Given the description of an element on the screen output the (x, y) to click on. 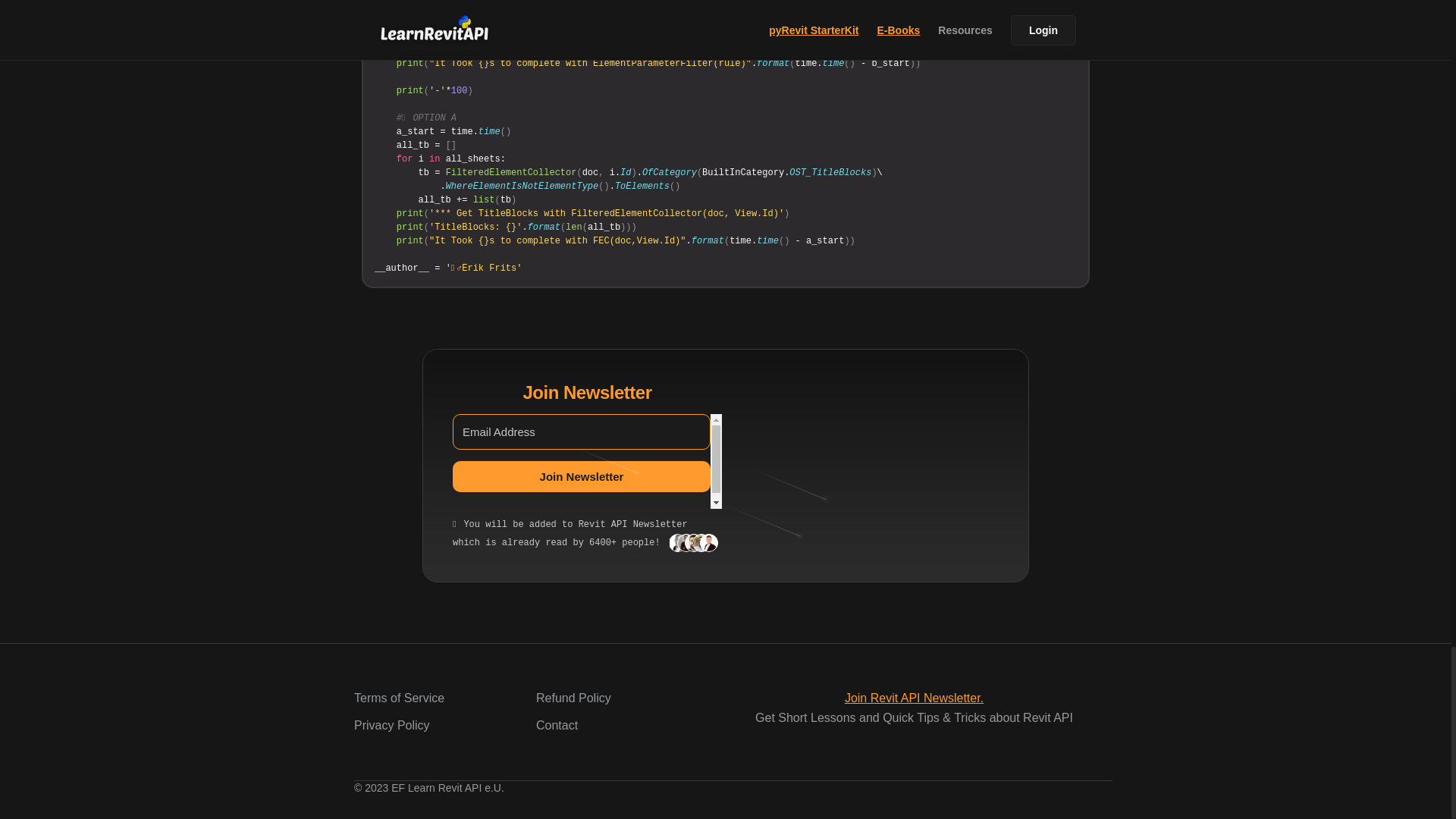
Terms of Service (398, 697)
Refund Policy (573, 697)
Join Revit API Newsletter. (914, 697)
Privacy Policy (391, 725)
Contact (556, 725)
